Given the description of an element on the screen output the (x, y) to click on. 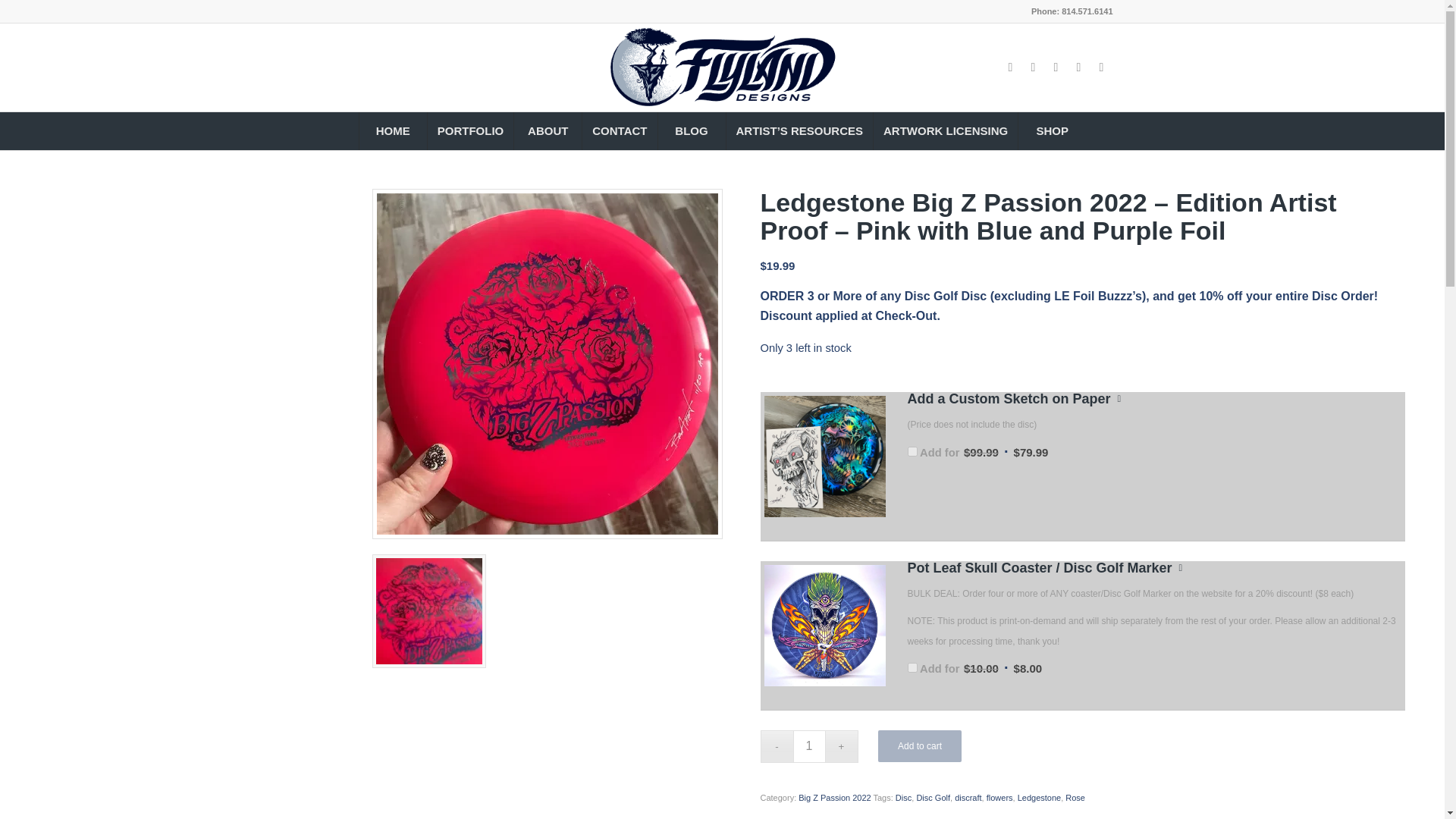
PORTFOLIO (469, 130)
HOME (392, 130)
Instagram (1033, 67)
Youtube (1056, 67)
ABOUT (546, 130)
CONTACT (618, 130)
BLOG (690, 130)
X (1078, 67)
FlyLand-Designs-Web-Logo (722, 67)
Facebook (1010, 67)
1 (809, 746)
- (776, 746)
Mail (1101, 67)
